Given the description of an element on the screen output the (x, y) to click on. 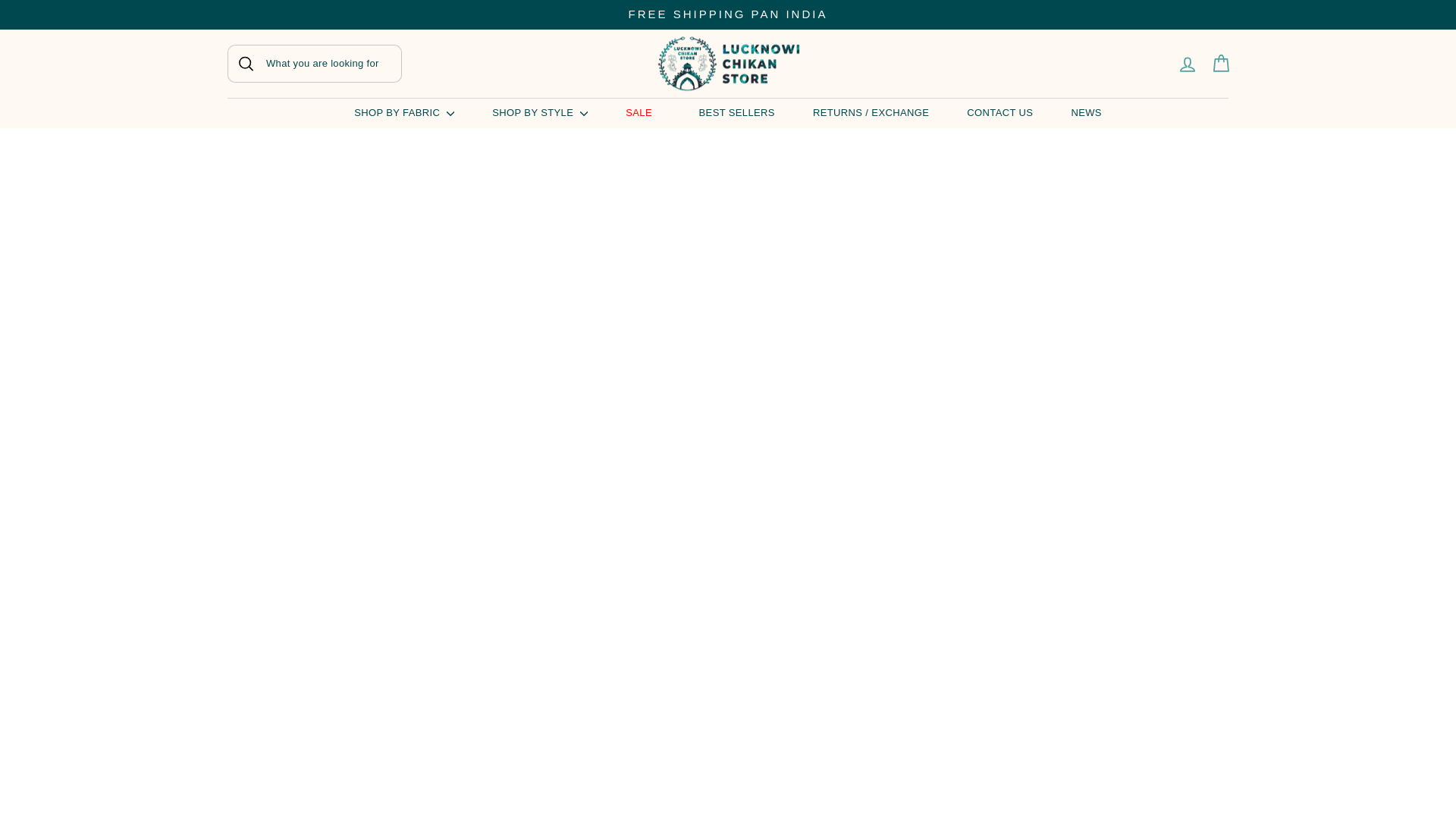
Cart (1187, 62)
account (1220, 62)
